Given the description of an element on the screen output the (x, y) to click on. 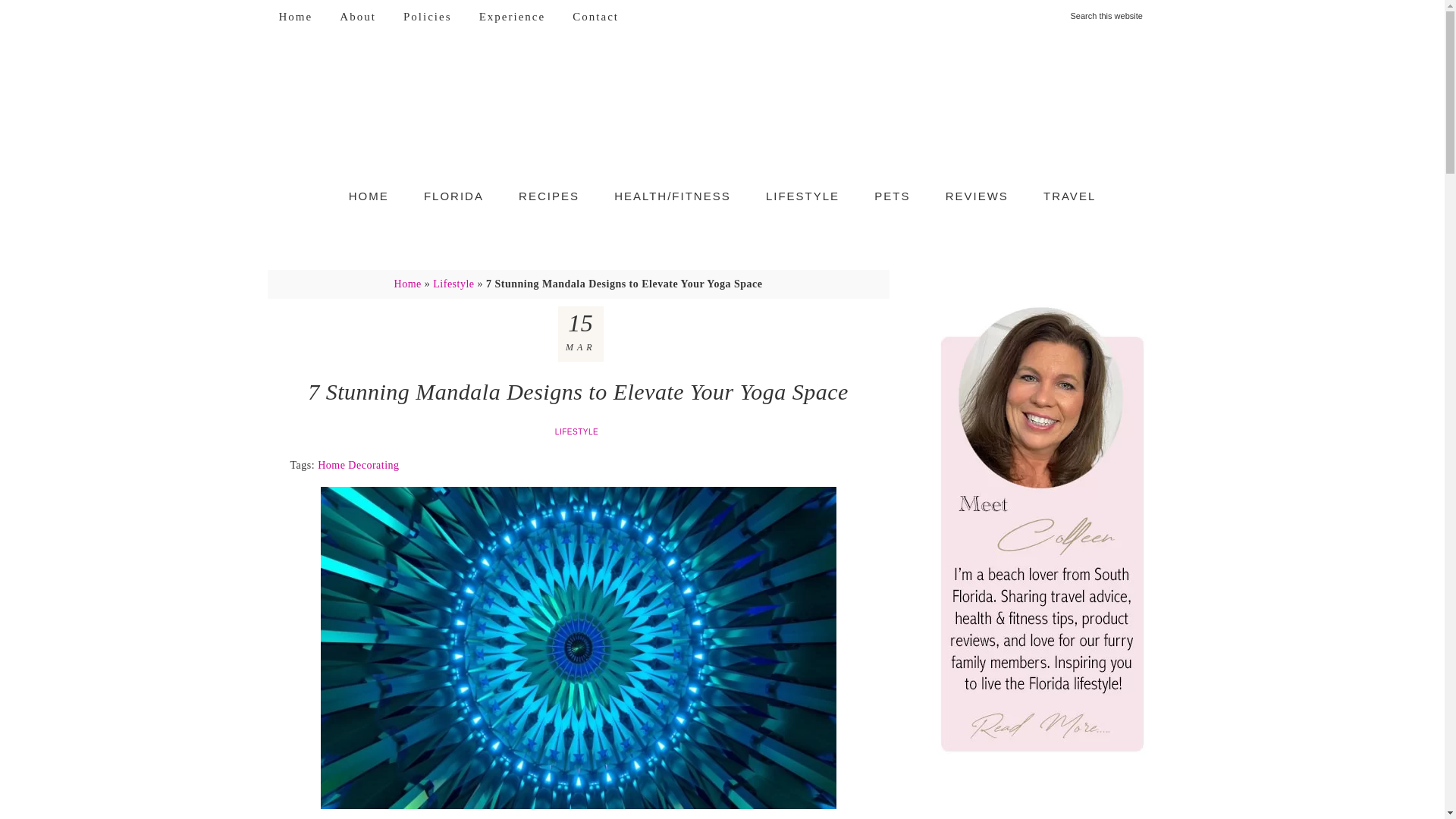
LIFESTYLE (577, 431)
FLORIDA (454, 196)
PETS (891, 196)
Home Decorating (357, 464)
Home (408, 283)
Policies (427, 17)
Lifestyle (453, 283)
REVIEWS (976, 196)
SHIBLEY SMILES (722, 108)
LIFESTYLE (802, 196)
Home (294, 17)
HOME (368, 196)
TRAVEL (1068, 196)
RECIPES (548, 196)
About (358, 17)
